Given the description of an element on the screen output the (x, y) to click on. 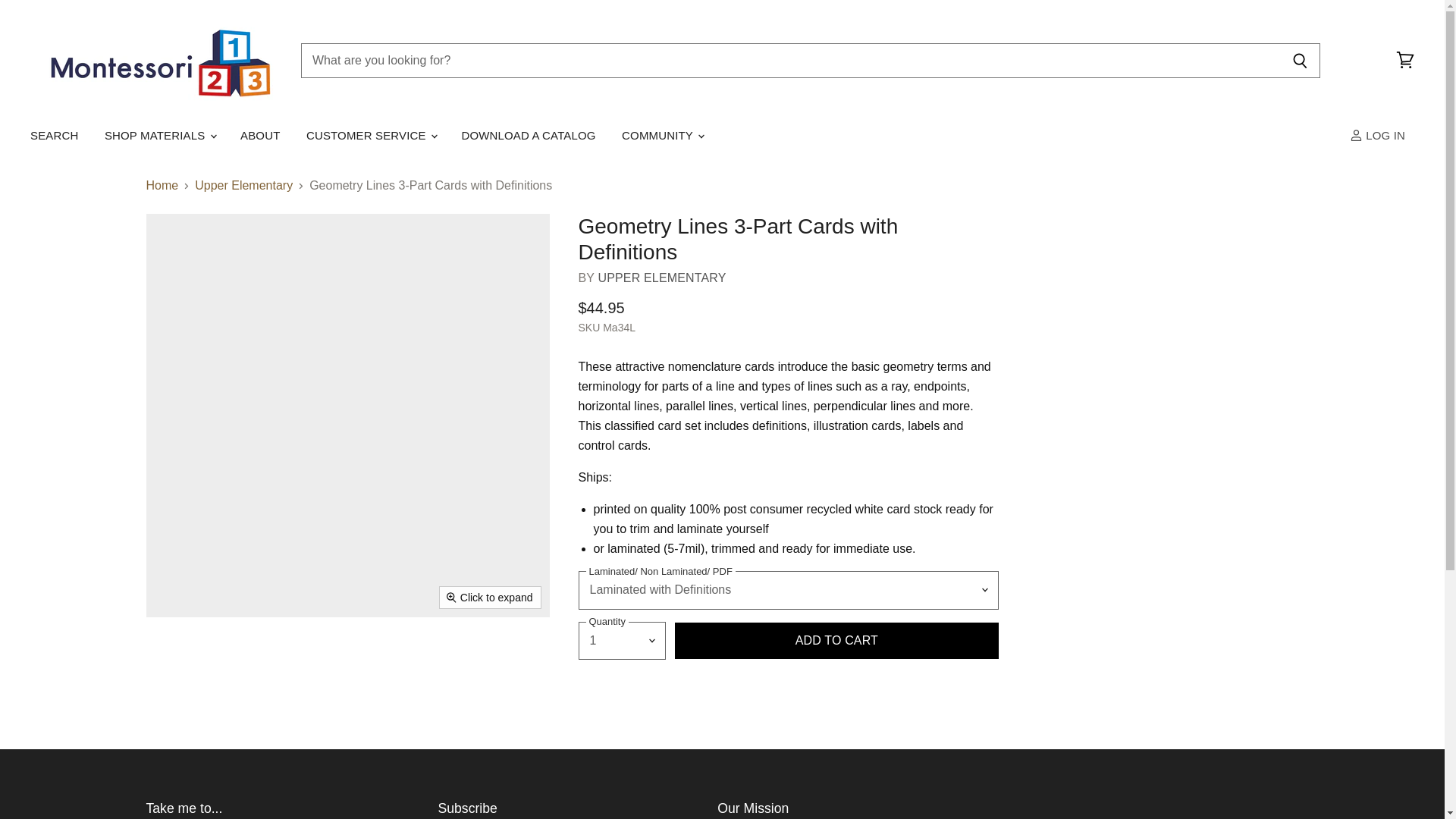
Upper Elementary (660, 277)
ABOUT (259, 135)
SHOP MATERIALS (159, 135)
CUSTOMER SERVICE (370, 135)
SEARCH (53, 135)
ACCOUNT ICON (1355, 134)
View cart (1405, 60)
